Given the description of an element on the screen output the (x, y) to click on. 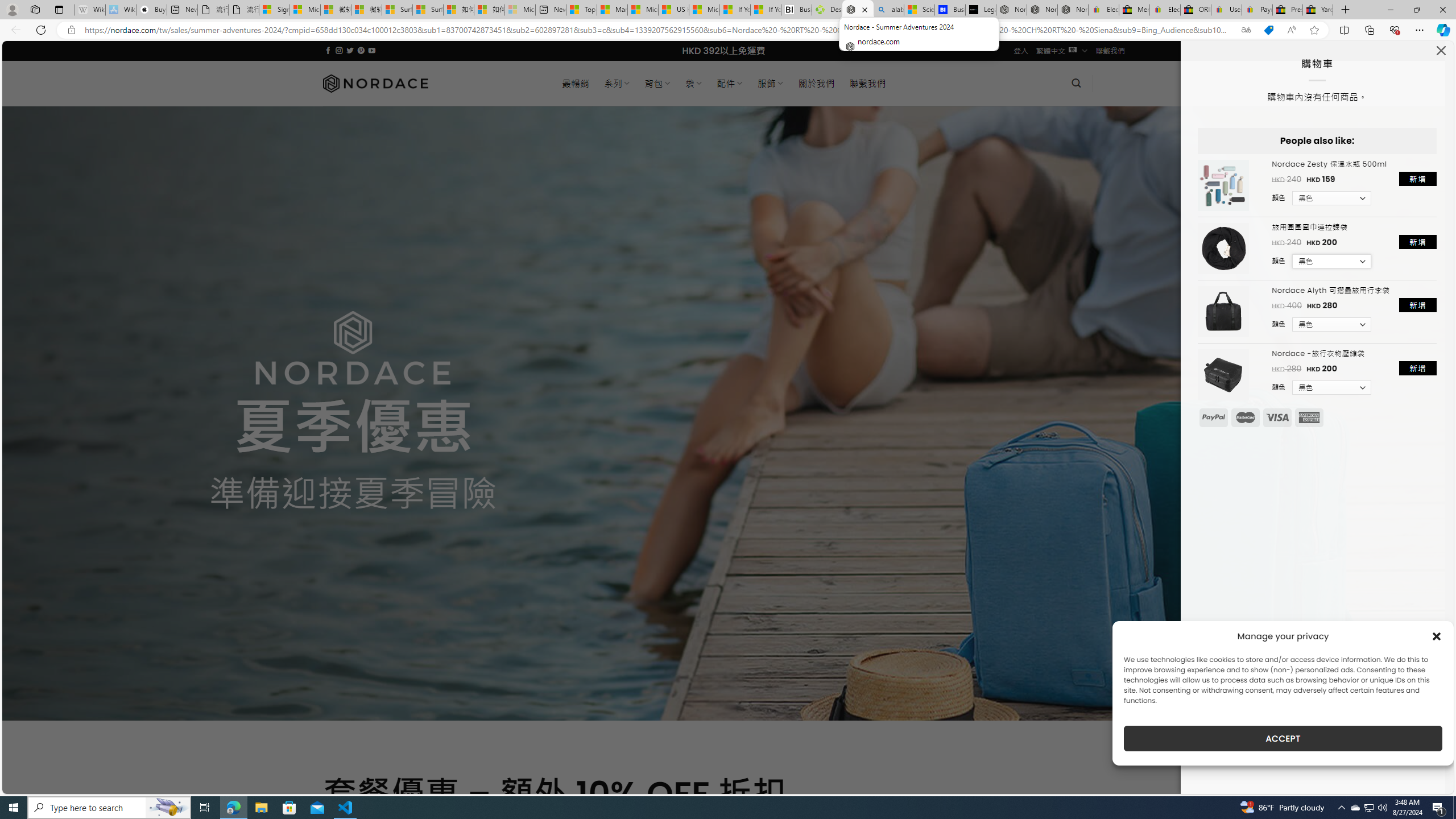
Follow on Twitter (349, 50)
Yard, Garden & Outdoor Living (1317, 9)
US Heat Deaths Soared To Record High Last Year (673, 9)
Payments Terms of Use | eBay.com (1256, 9)
